Given the description of an element on the screen output the (x, y) to click on. 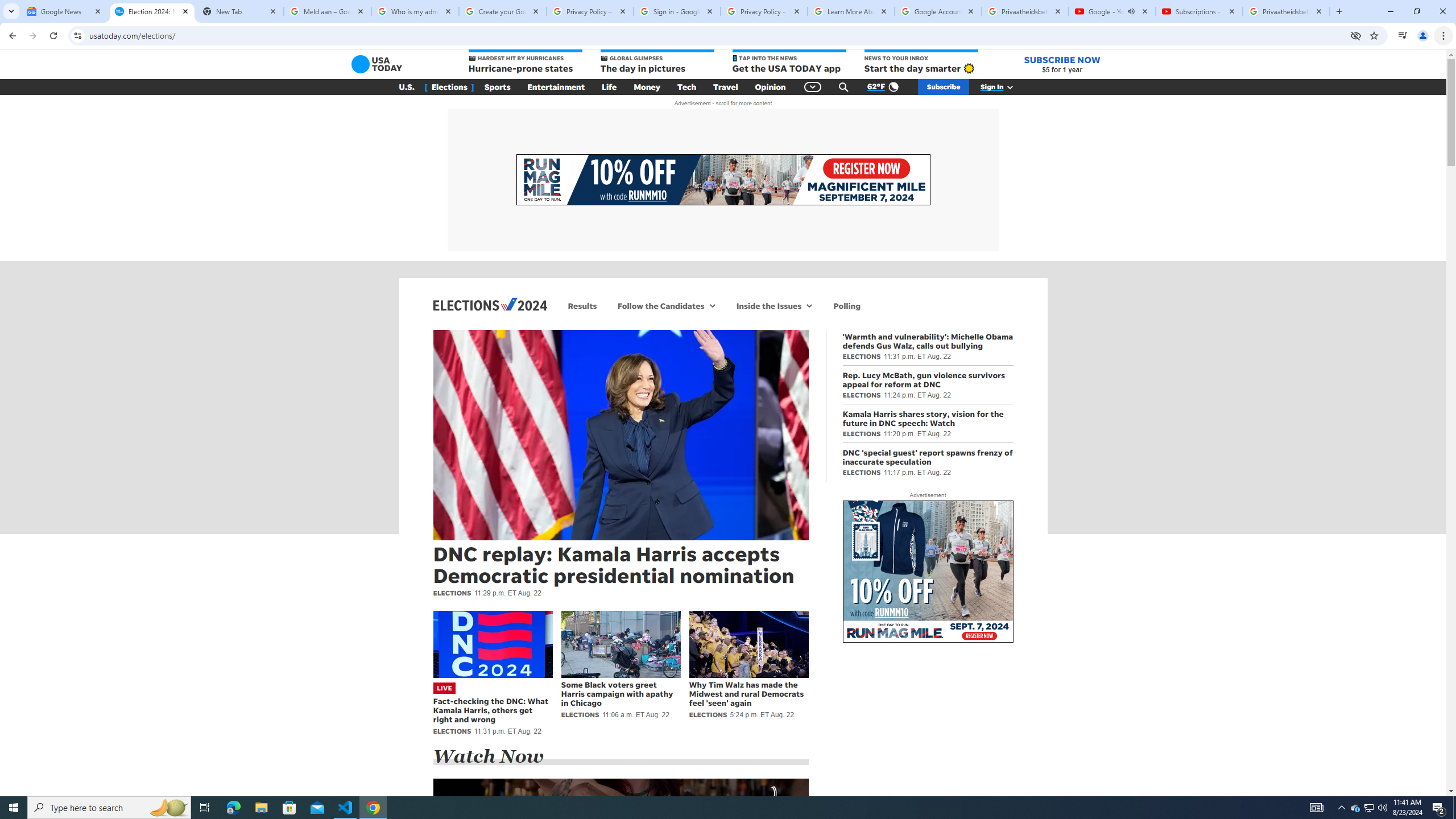
Create your Google Account (502, 11)
SUBSCRIBE NOW $5 for 1 year (1062, 64)
Inside the Issues (767, 305)
Opinion (770, 87)
Subscribe (943, 87)
More Follow the Candidates navigation (712, 305)
Control your music, videos, and more (1402, 35)
USA TODAY (376, 64)
